Given the description of an element on the screen output the (x, y) to click on. 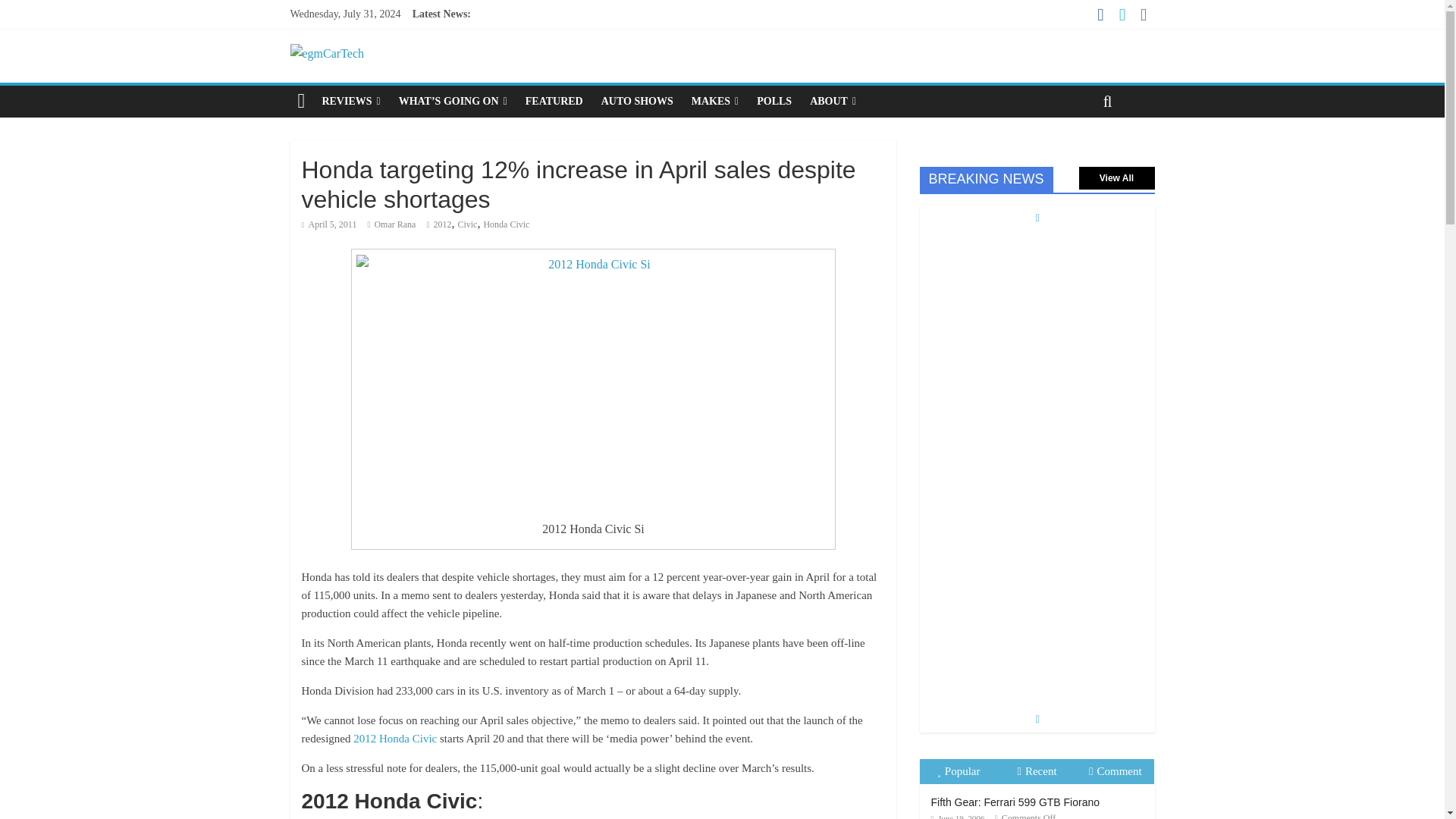
MAKES (715, 101)
FEATURED (554, 101)
2012 Honda Civic (394, 738)
Omar Rana (394, 224)
2012 Honda Civic Si (592, 381)
AUTO SHOWS (637, 101)
REVIEWS (350, 101)
10:00 am (328, 224)
